Given the description of an element on the screen output the (x, y) to click on. 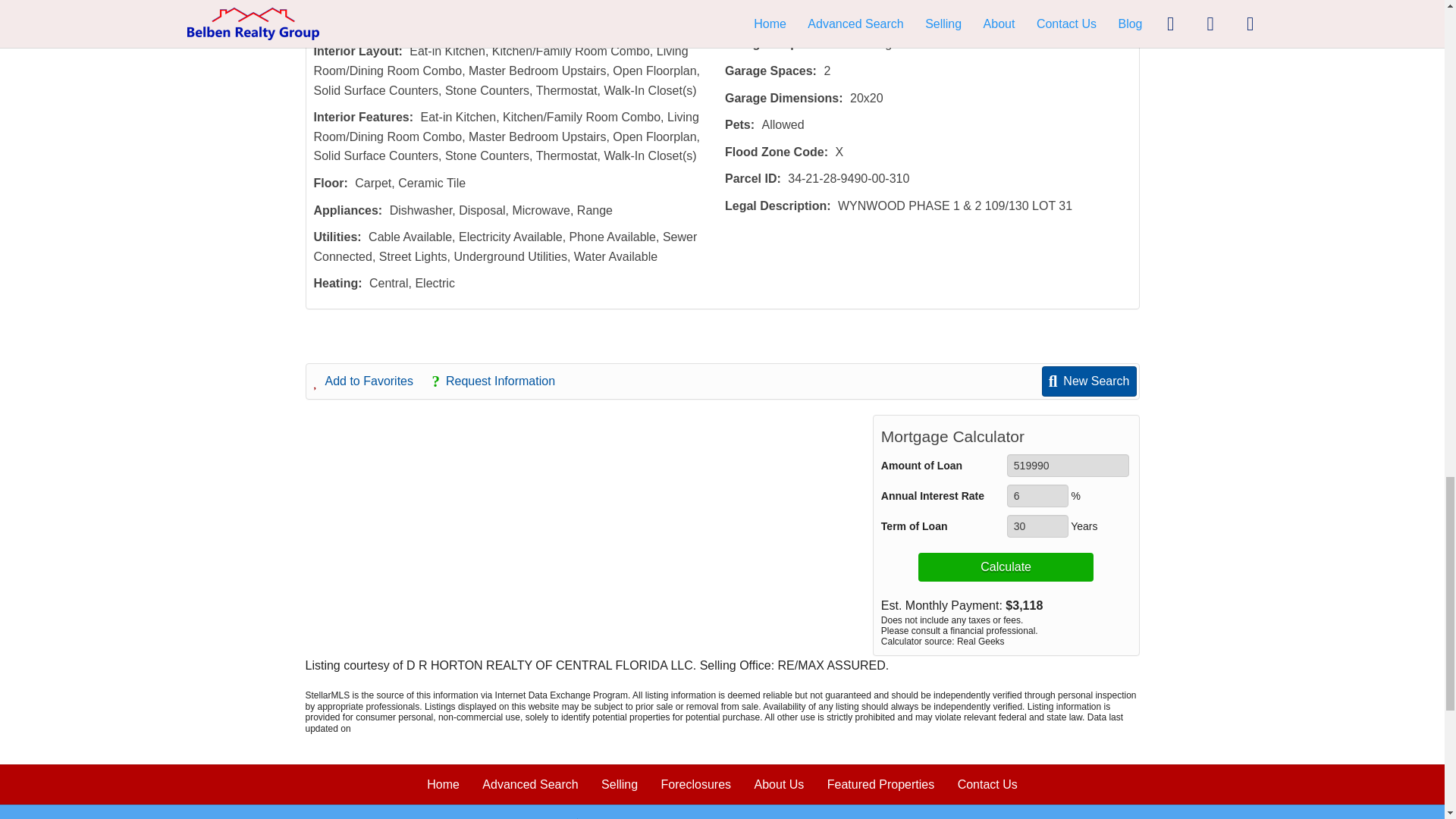
519990 (1068, 465)
6 (1037, 495)
30 (1037, 526)
